Given the description of an element on the screen output the (x, y) to click on. 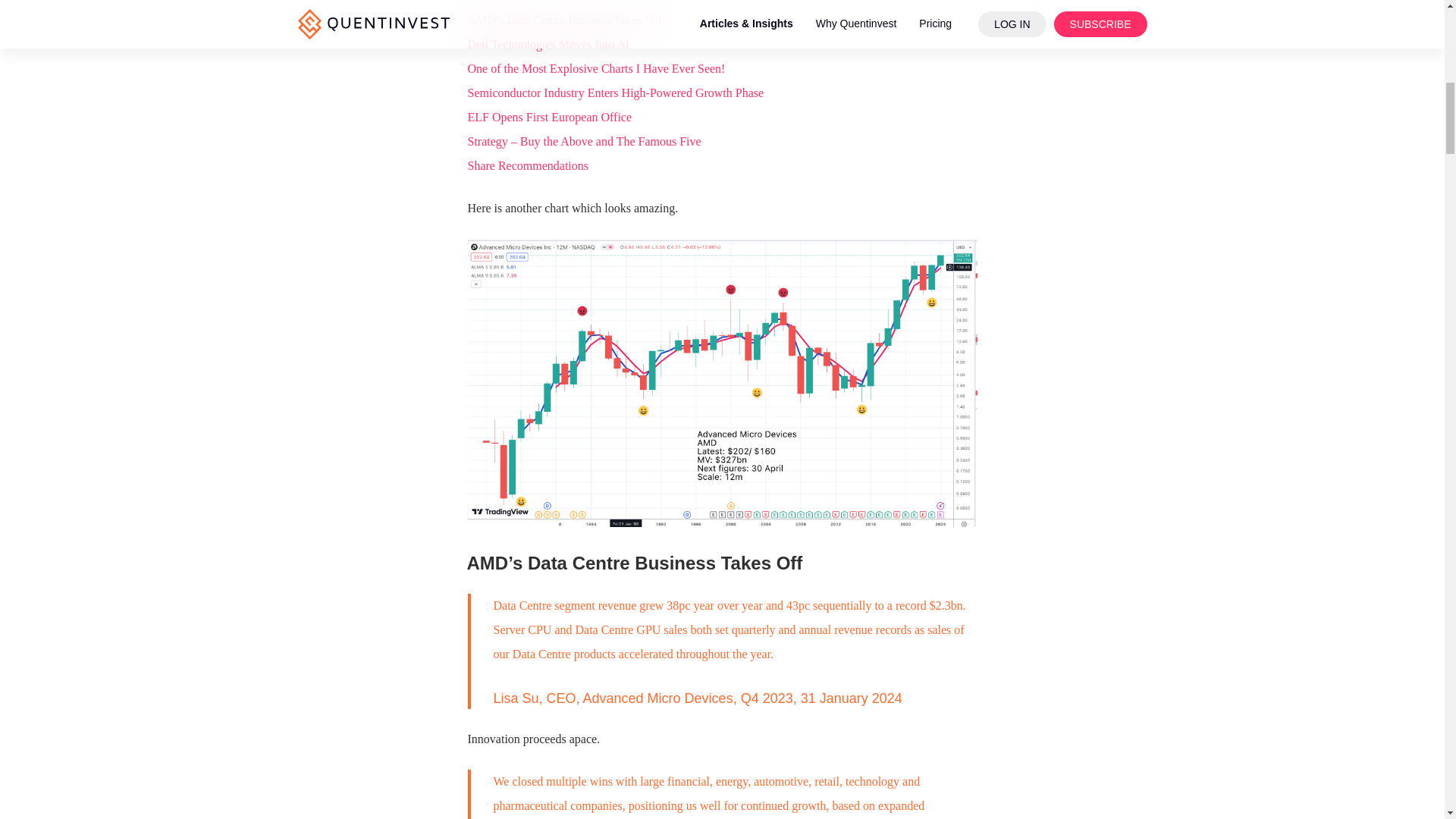
Dell Technologies Moves Into AI (547, 43)
Share Recommendations (527, 164)
One of the Most Explosive Charts I Have Ever Seen! (596, 68)
Semiconductor Industry Enters High-Powered Growth Phase (614, 92)
ELF Opens First European Office (549, 116)
